Given the description of an element on the screen output the (x, y) to click on. 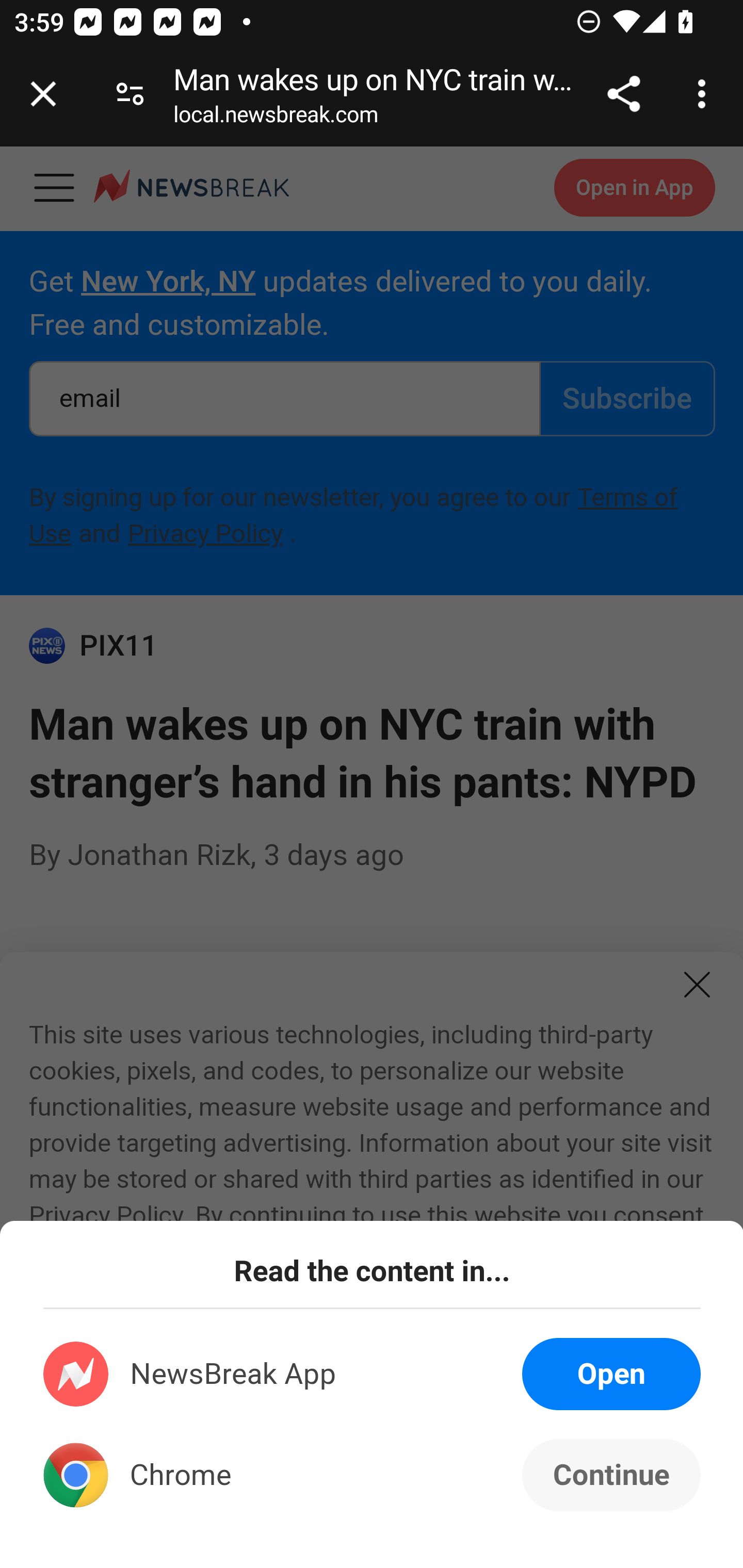
Close tab (43, 93)
Share link address (623, 93)
Customize and control Google Chrome (705, 93)
Connection is secure (129, 93)
local.newsbreak.com (275, 117)
Download App NewsBreak App NewsBreak App Open (372, 1374)
Open (611, 1374)
Accept Cookies (231, 1458)
Continue (611, 1475)
